Given the description of an element on the screen output the (x, y) to click on. 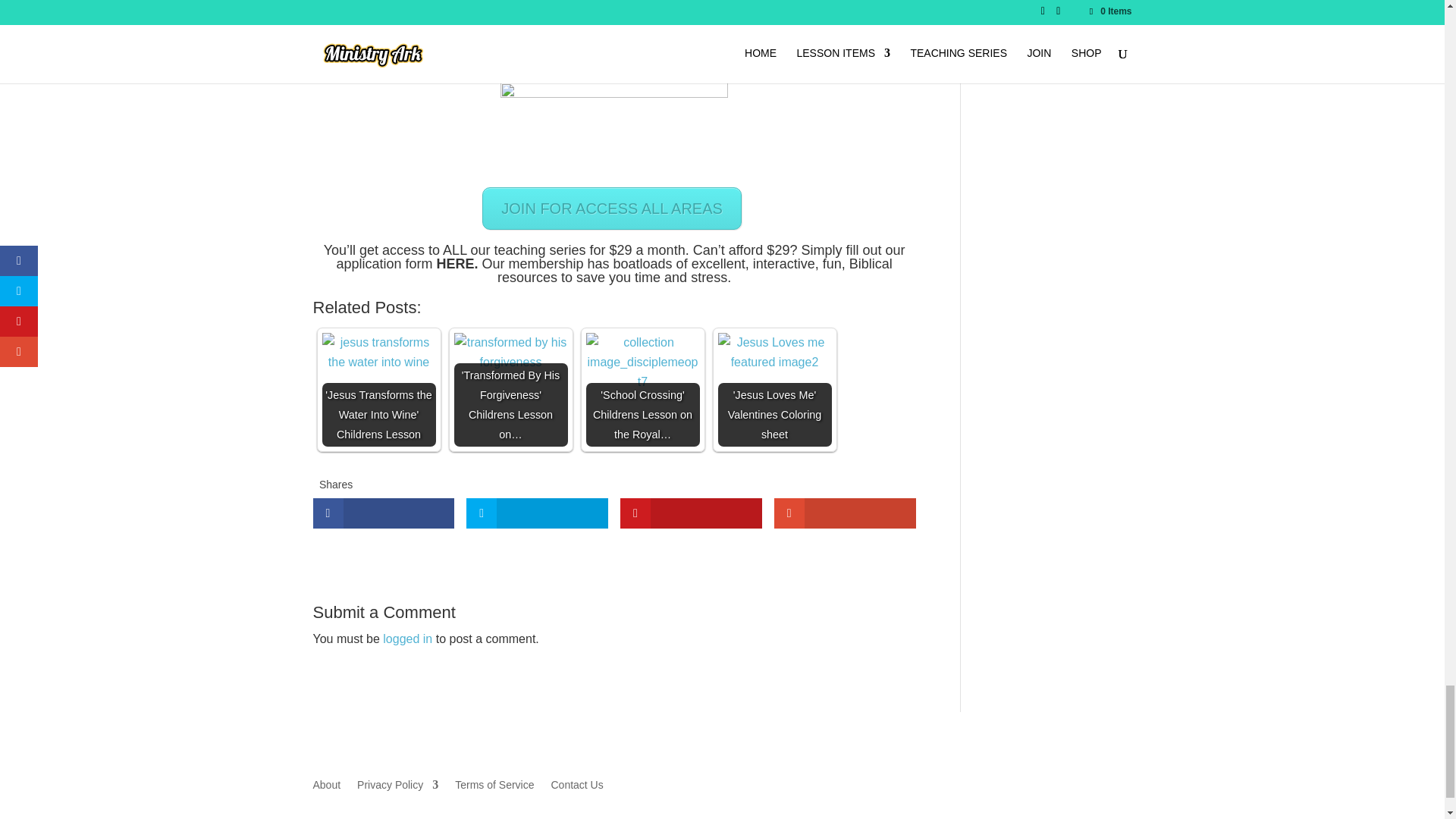
'Jesus Transforms the Water Into Wine' Childrens Lesson (378, 352)
'Jesus Loves Me' Valentines Coloring sheet (774, 352)
